Given the description of an element on the screen output the (x, y) to click on. 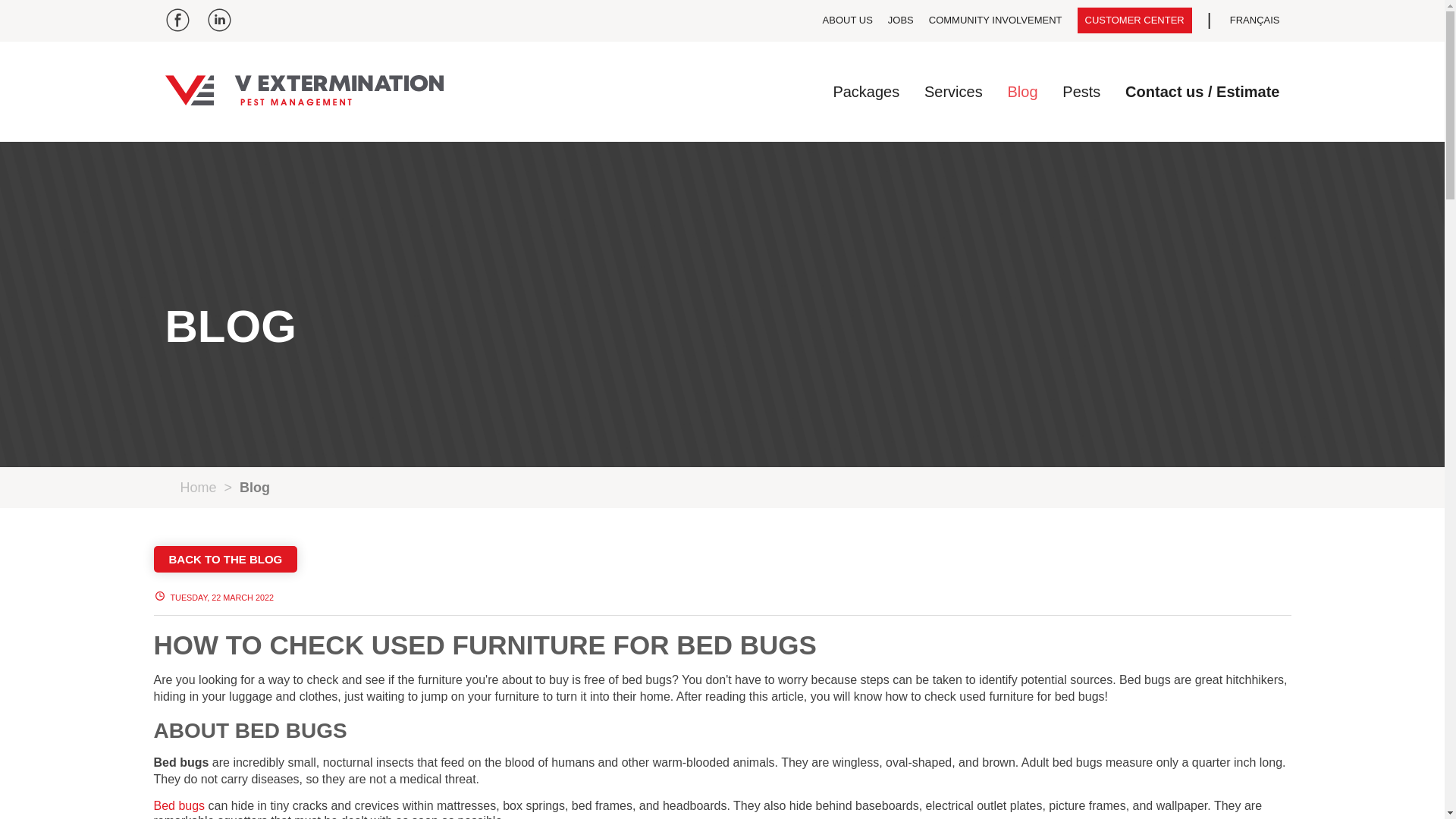
Bed bugs (178, 805)
ABOUT US (847, 19)
BACK TO THE BLOG (224, 559)
Blog (1021, 91)
JOBS (901, 19)
COMMUNITY INVOLVEMENT (995, 19)
Services (953, 91)
CUSTOMER CENTER (1134, 20)
Pests (1081, 91)
Home (198, 487)
